Given the description of an element on the screen output the (x, y) to click on. 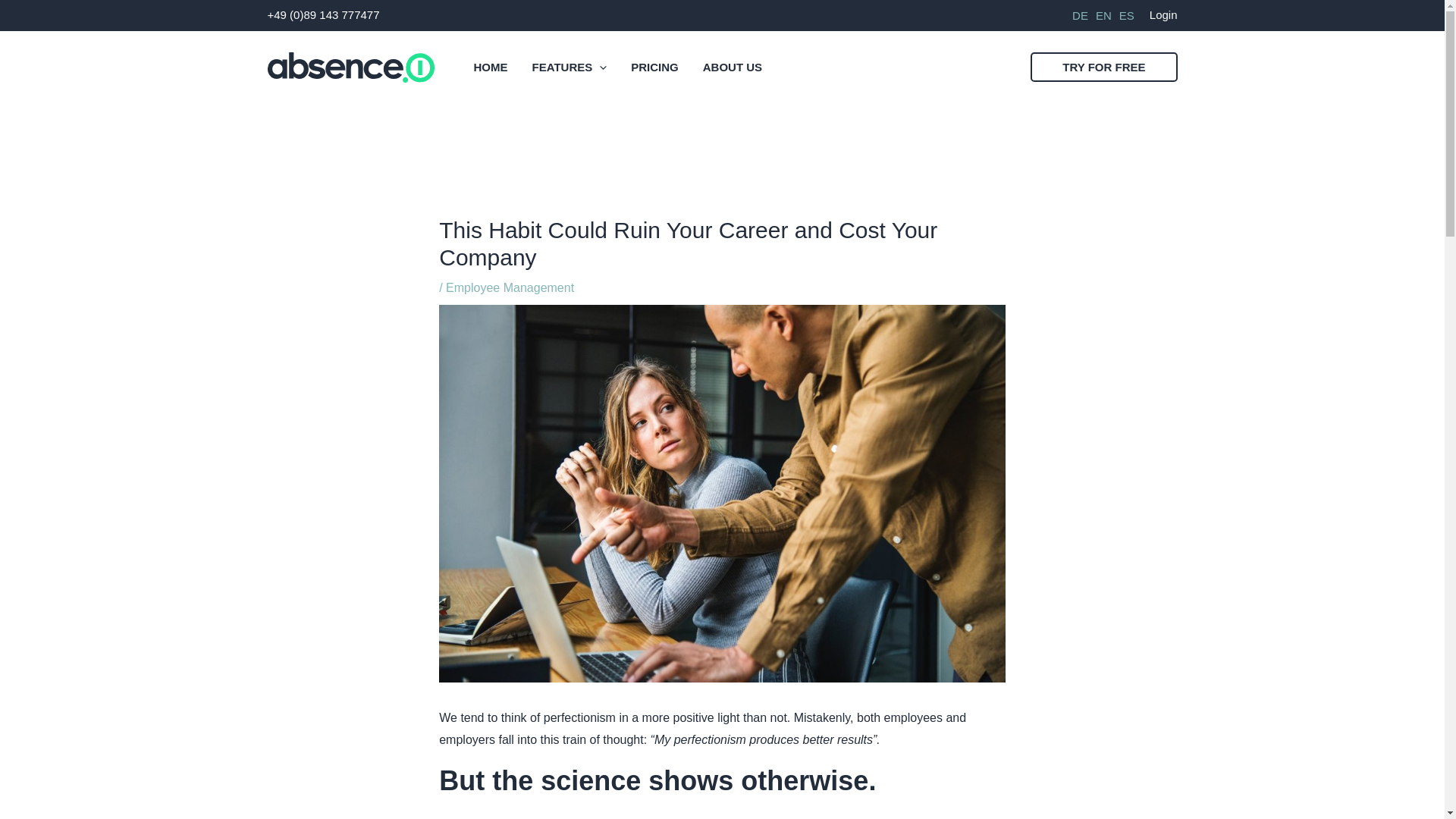
ES (1126, 15)
PRICING (654, 67)
Login (1163, 14)
HOME (490, 67)
DE (1079, 15)
FEATURES (569, 67)
EN (1104, 15)
TRY FOR FREE (1103, 66)
ABOUT US (732, 67)
